Given the description of an element on the screen output the (x, y) to click on. 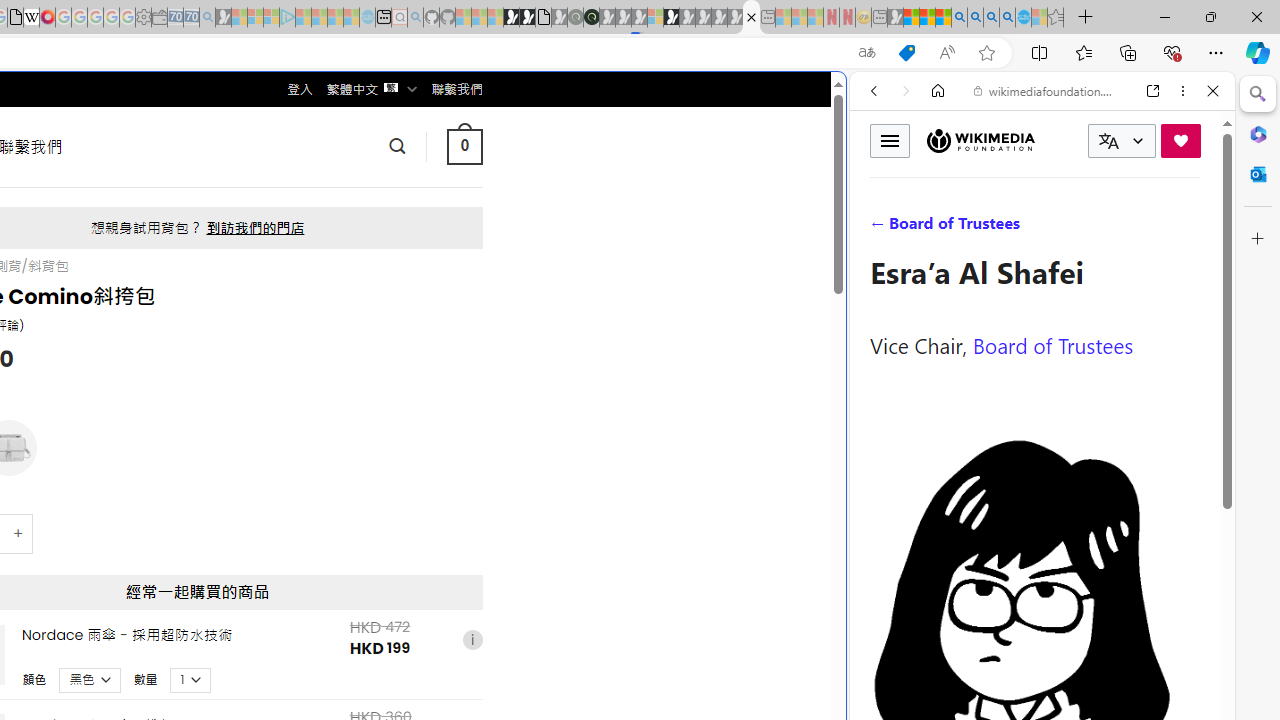
Class: b_serphb (1190, 229)
Search the web (1051, 137)
Show translate options (867, 53)
SEARCH TOOLS (1093, 228)
Future Focus Report 2024 (591, 17)
